Given the description of an element on the screen output the (x, y) to click on. 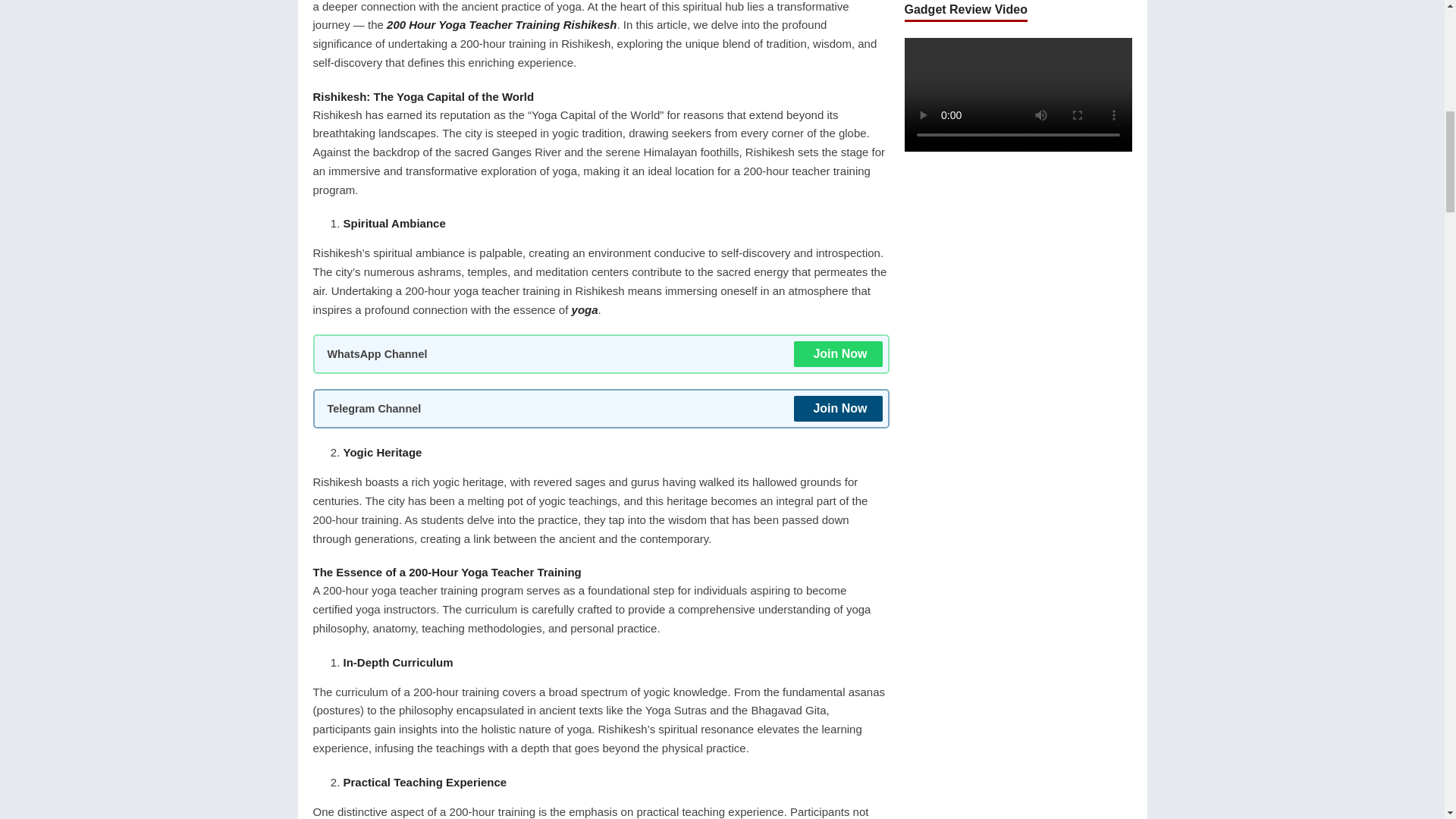
Join Now (837, 408)
200 Hour Yoga Teacher Training Rishikesh (501, 24)
Join Now (837, 353)
yoga (585, 309)
